Given the description of an element on the screen output the (x, y) to click on. 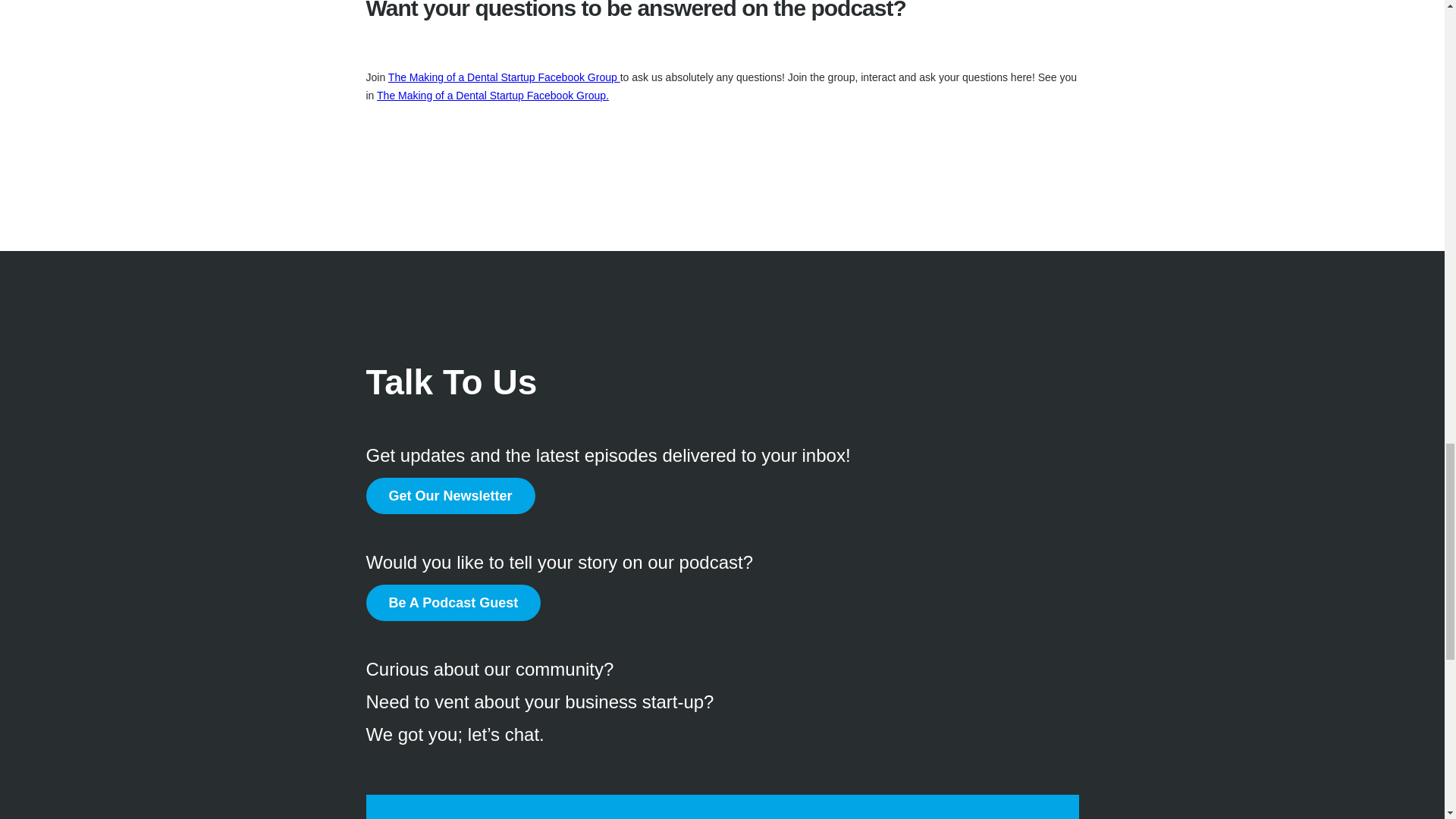
Get Our Newsletter (449, 495)
Be A Podcast Guest (452, 602)
The Making of a Dental Startup Facebook Group (504, 77)
The Making of a Dental Startup Facebook Group. (492, 95)
